Given the description of an element on the screen output the (x, y) to click on. 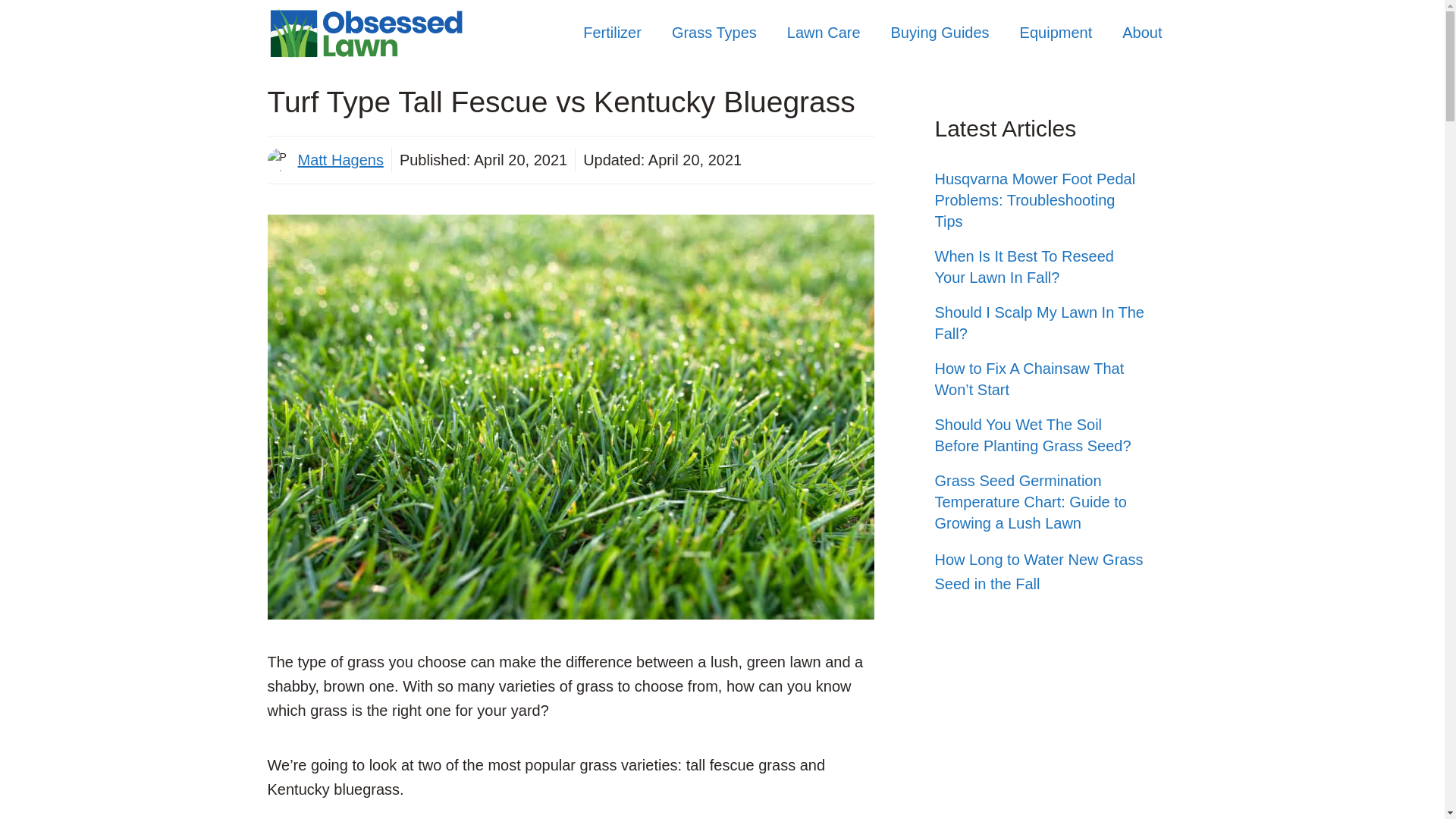
About (1141, 32)
When Is It Best To Reseed Your Lawn In Fall? (1023, 266)
Husqvarna Mower Foot Pedal Problems: Troubleshooting Tips (1034, 200)
Equipment (1056, 32)
Buying Guides (940, 32)
Grass Types (713, 32)
Should You Wet The Soil Before Planting Grass Seed? (1032, 435)
How Long to Water New Grass Seed in the Fall (1038, 571)
Should I Scalp My Lawn In The Fall? (1038, 322)
